Given the description of an element on the screen output the (x, y) to click on. 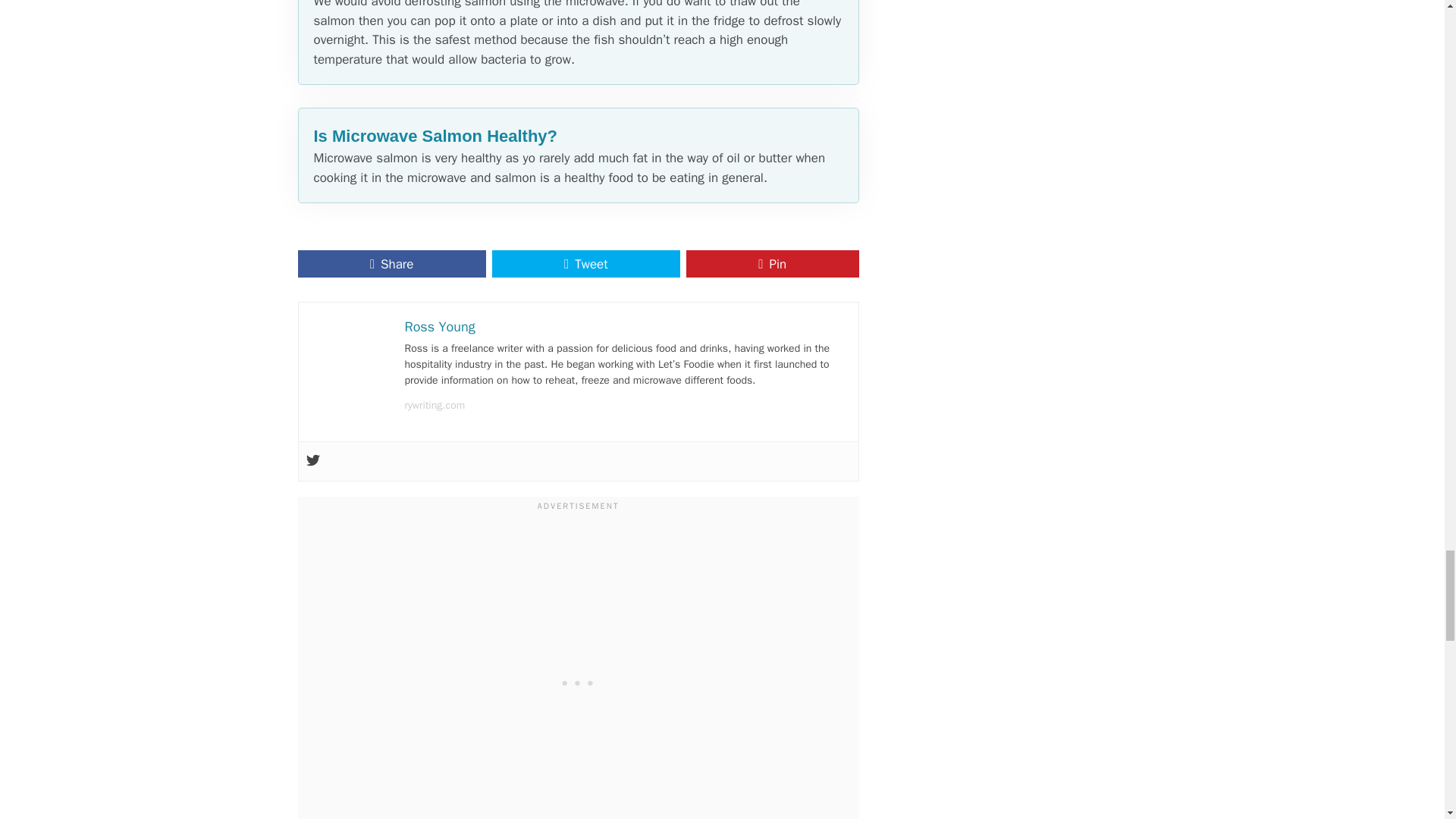
Pin (772, 263)
Ross Young (440, 326)
Tweet (585, 263)
rywriting.com (434, 404)
Share (390, 263)
